Given the description of an element on the screen output the (x, y) to click on. 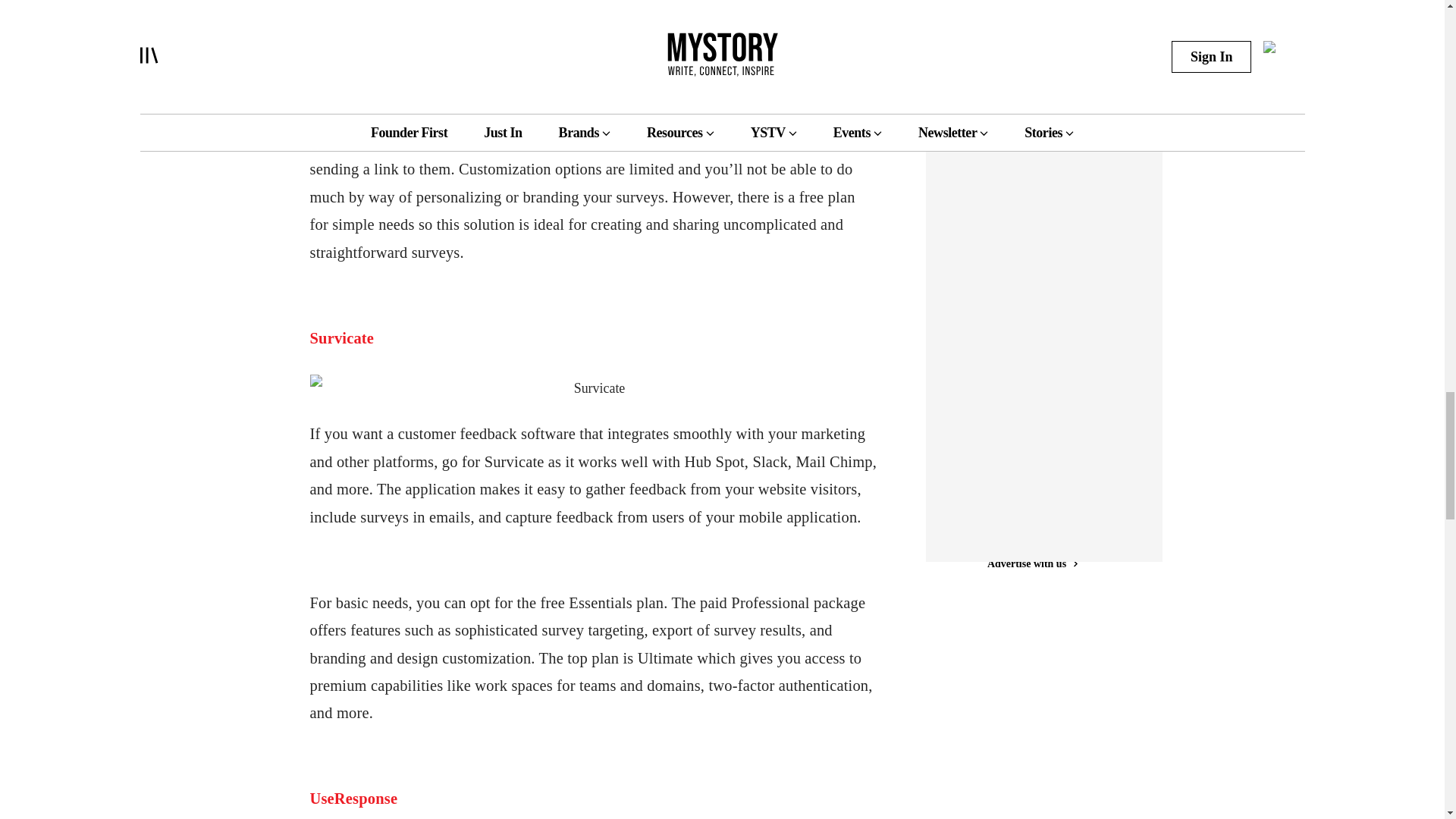
Survicate (341, 338)
customer happiness app (582, 4)
UseResponse (352, 798)
